Given the description of an element on the screen output the (x, y) to click on. 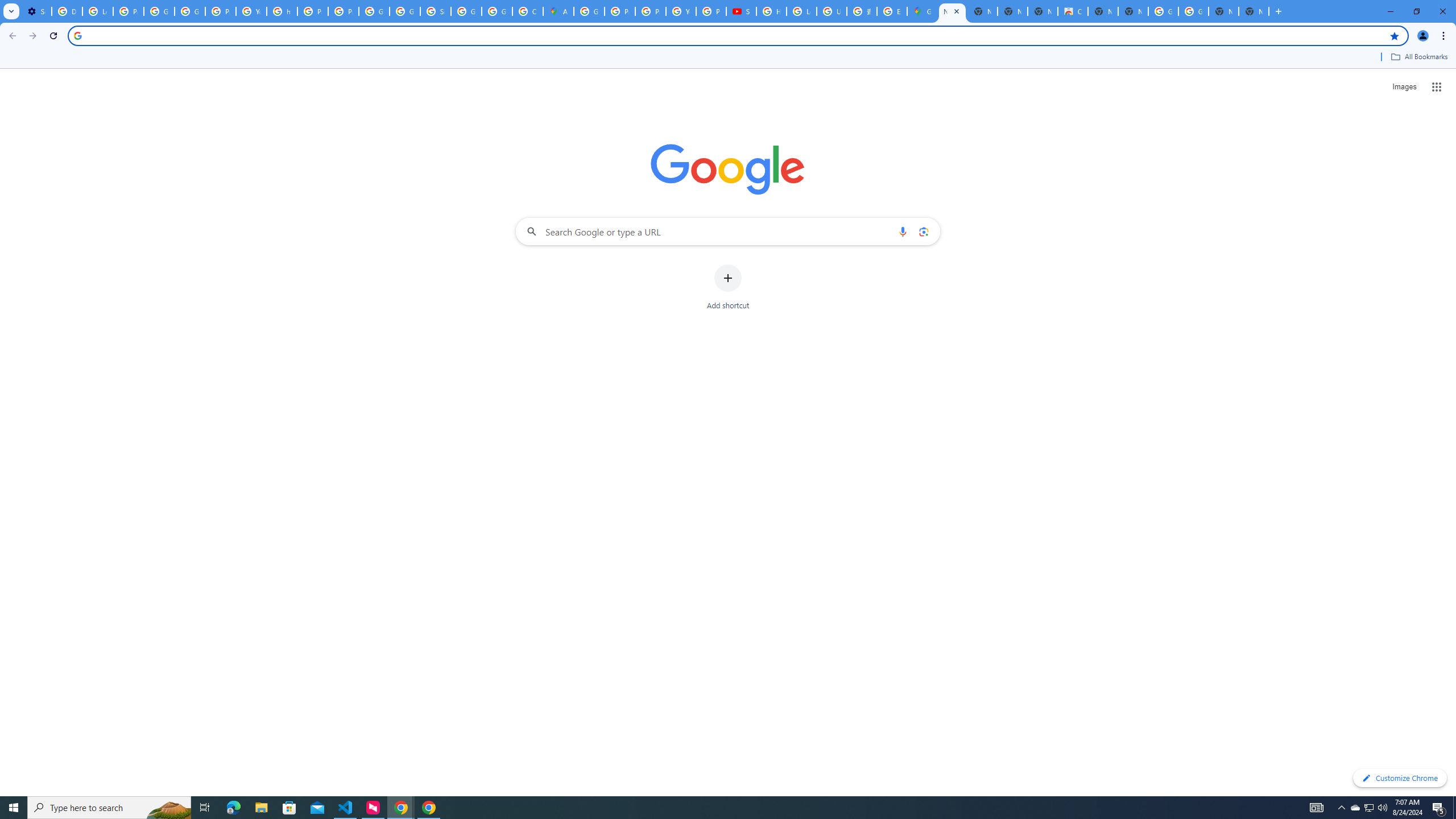
Google Maps (922, 11)
Search by voice (902, 230)
Explore new street-level details - Google Maps Help (892, 11)
Search Google or type a URL (727, 230)
Privacy Help Center - Policies Help (619, 11)
How Chrome protects your passwords - Google Chrome Help (771, 11)
Search by image (922, 230)
Google Account Help (189, 11)
Search icon (77, 35)
Chrome Web Store (1072, 11)
